Given the description of an element on the screen output the (x, y) to click on. 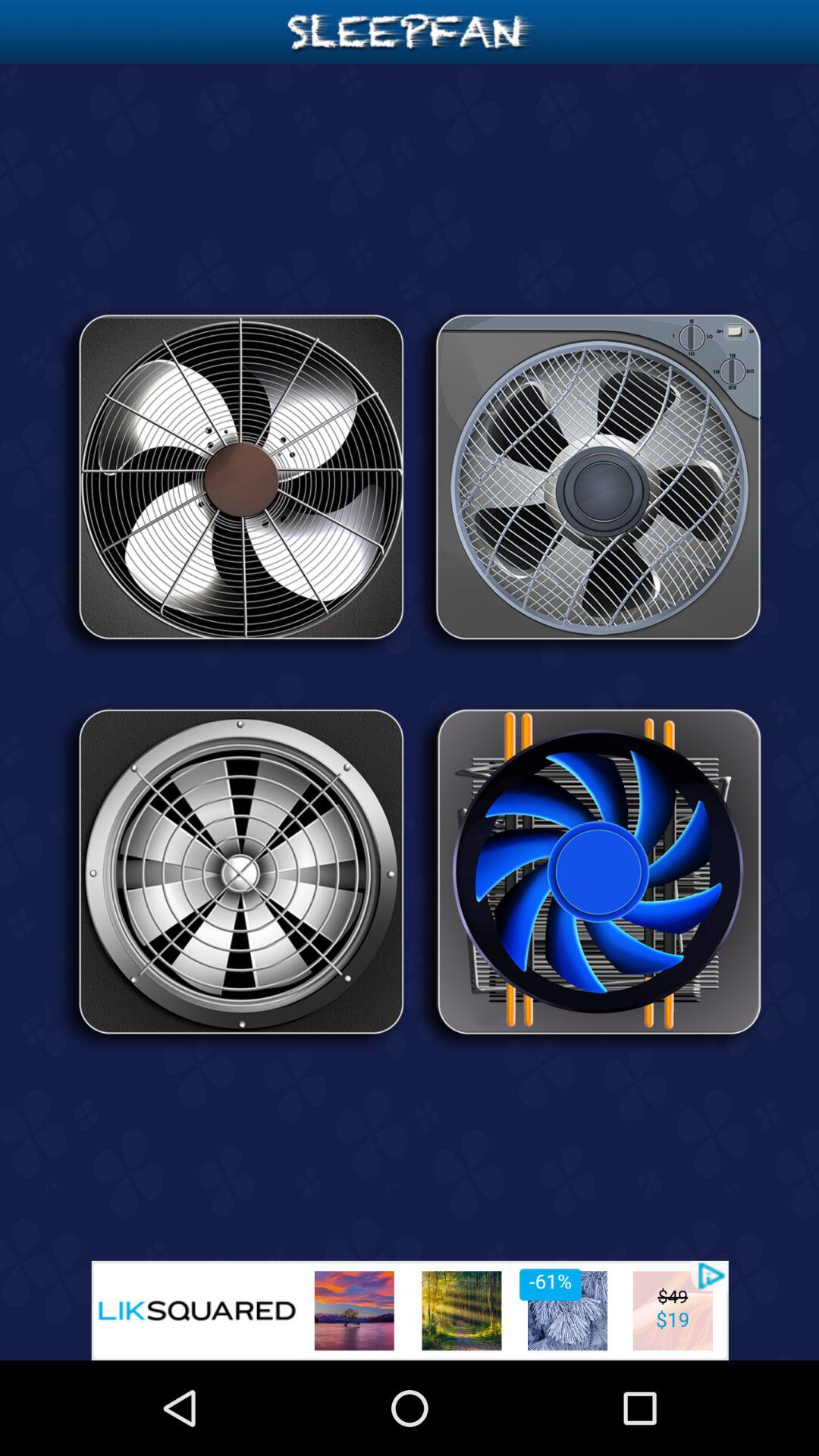
turn on fan (230, 482)
